Given the description of an element on the screen output the (x, y) to click on. 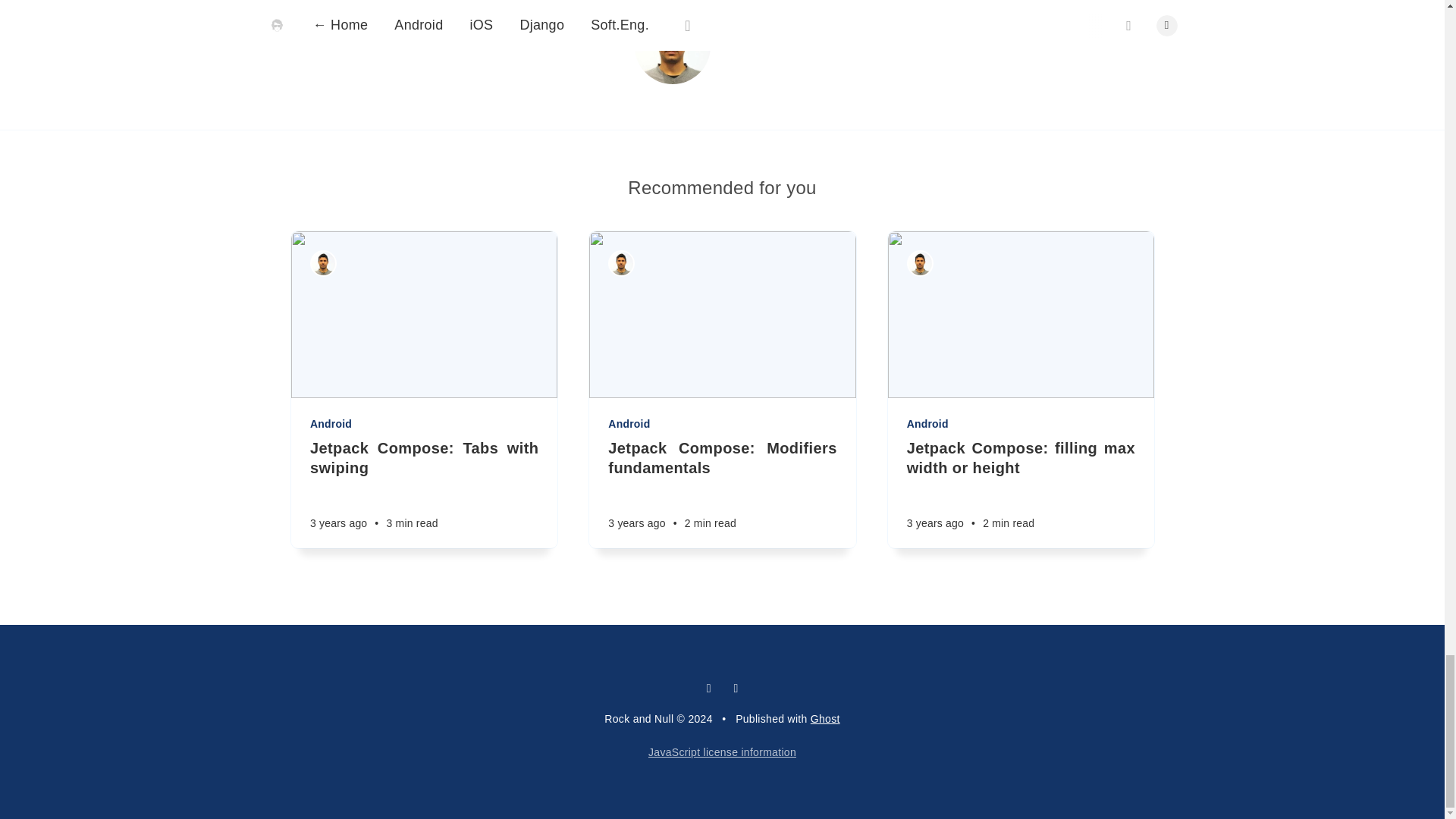
Jetpack Compose: Modifiers fundamentals (721, 457)
Mike Yerou (771, 40)
Android (424, 423)
Jetpack Compose: filling max width or height (1019, 457)
Jetpack Compose: Tabs with swiping (422, 457)
